Given the description of an element on the screen output the (x, y) to click on. 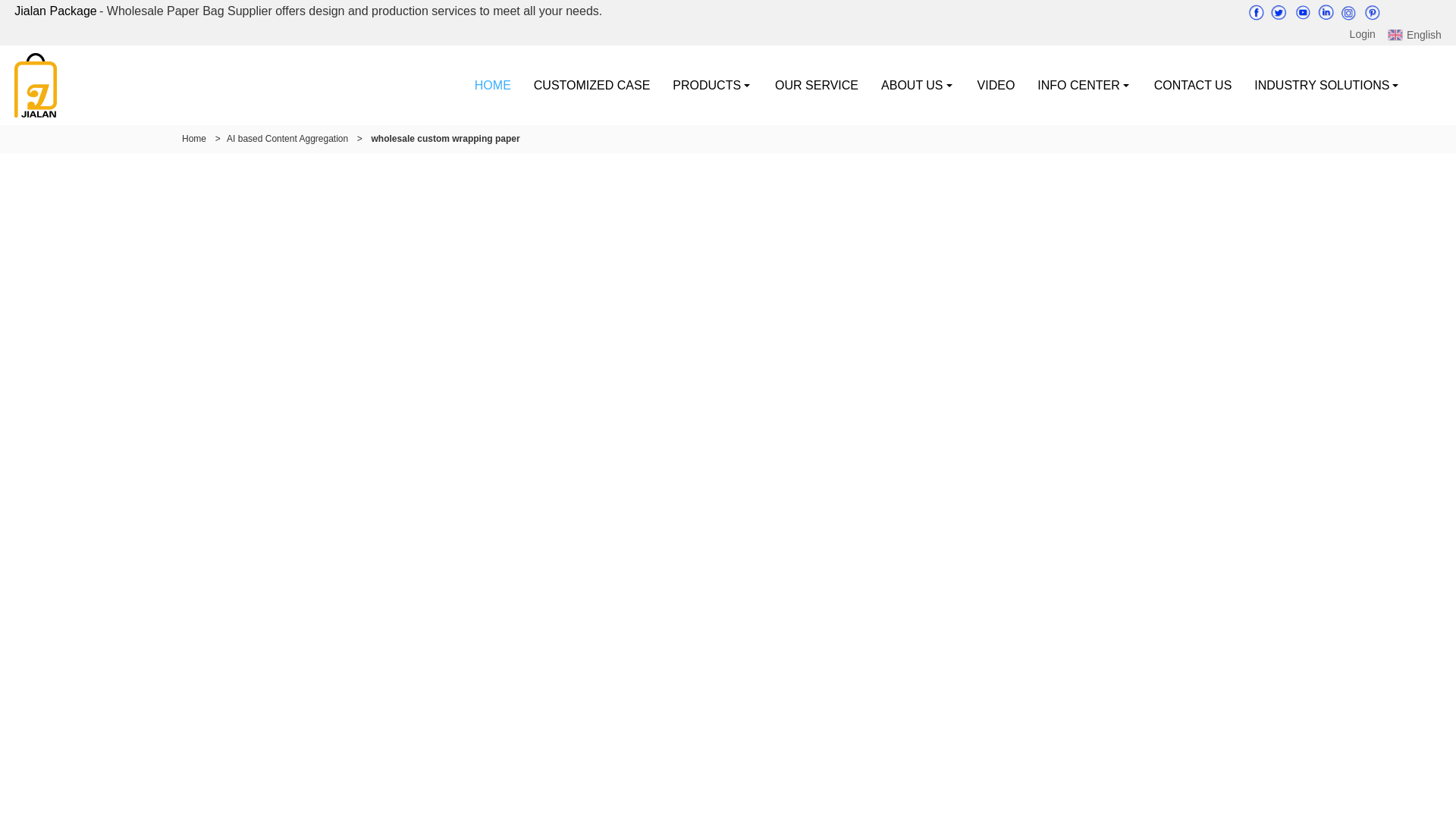
OUR SERVICE (815, 85)
CUSTOMIZED CASE (592, 85)
Login (1361, 33)
PRODUCTS (711, 85)
